Given the description of an element on the screen output the (x, y) to click on. 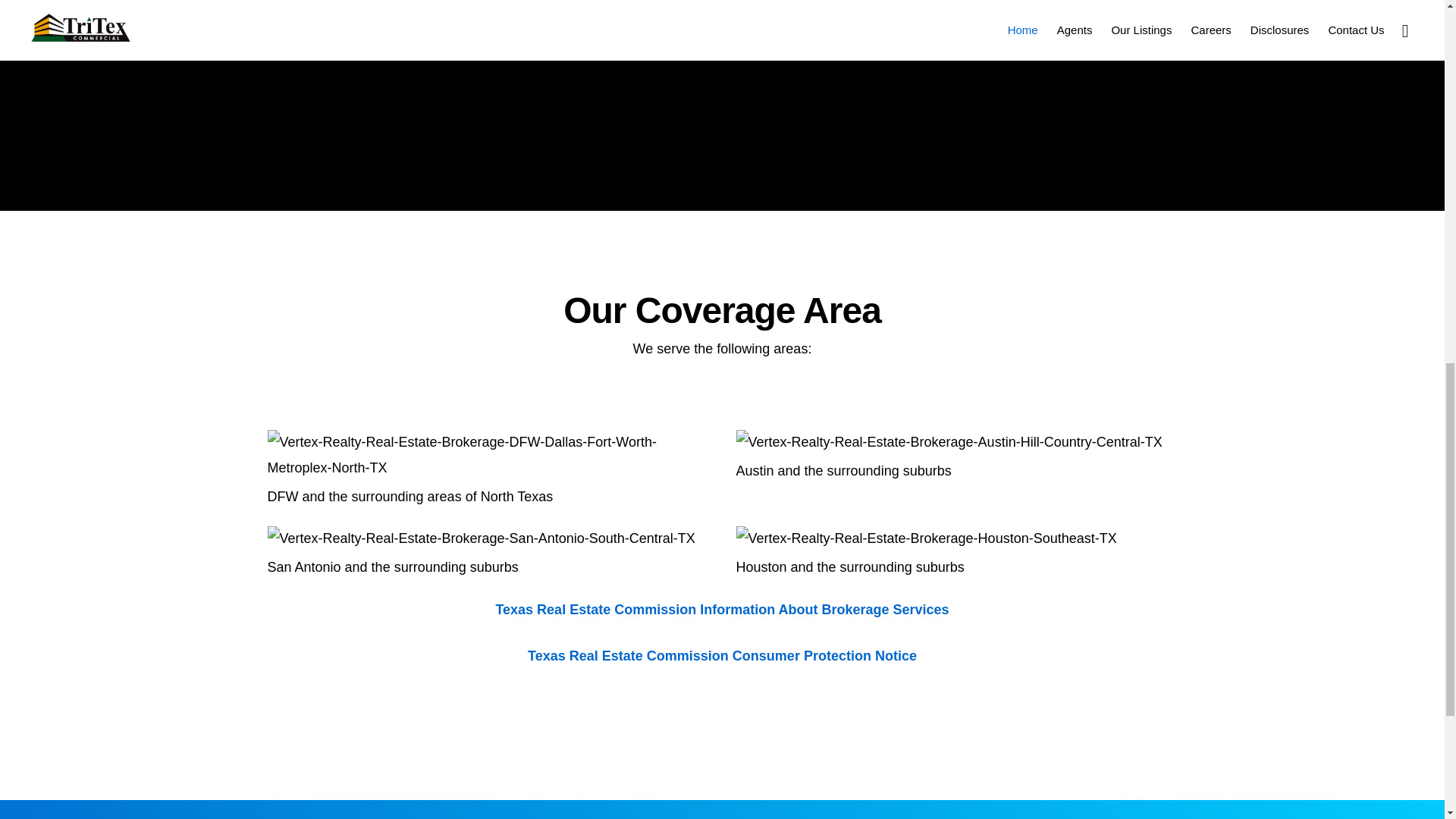
Houston and the surrounding suburbs (849, 566)
San Antonio and the surrounding suburbs (392, 566)
DFW and the surrounding areas of North Texas (409, 496)
Austin and the surrounding suburbs (842, 470)
Texas Real Estate Commission Consumer Protection Notice (722, 655)
